Given the description of an element on the screen output the (x, y) to click on. 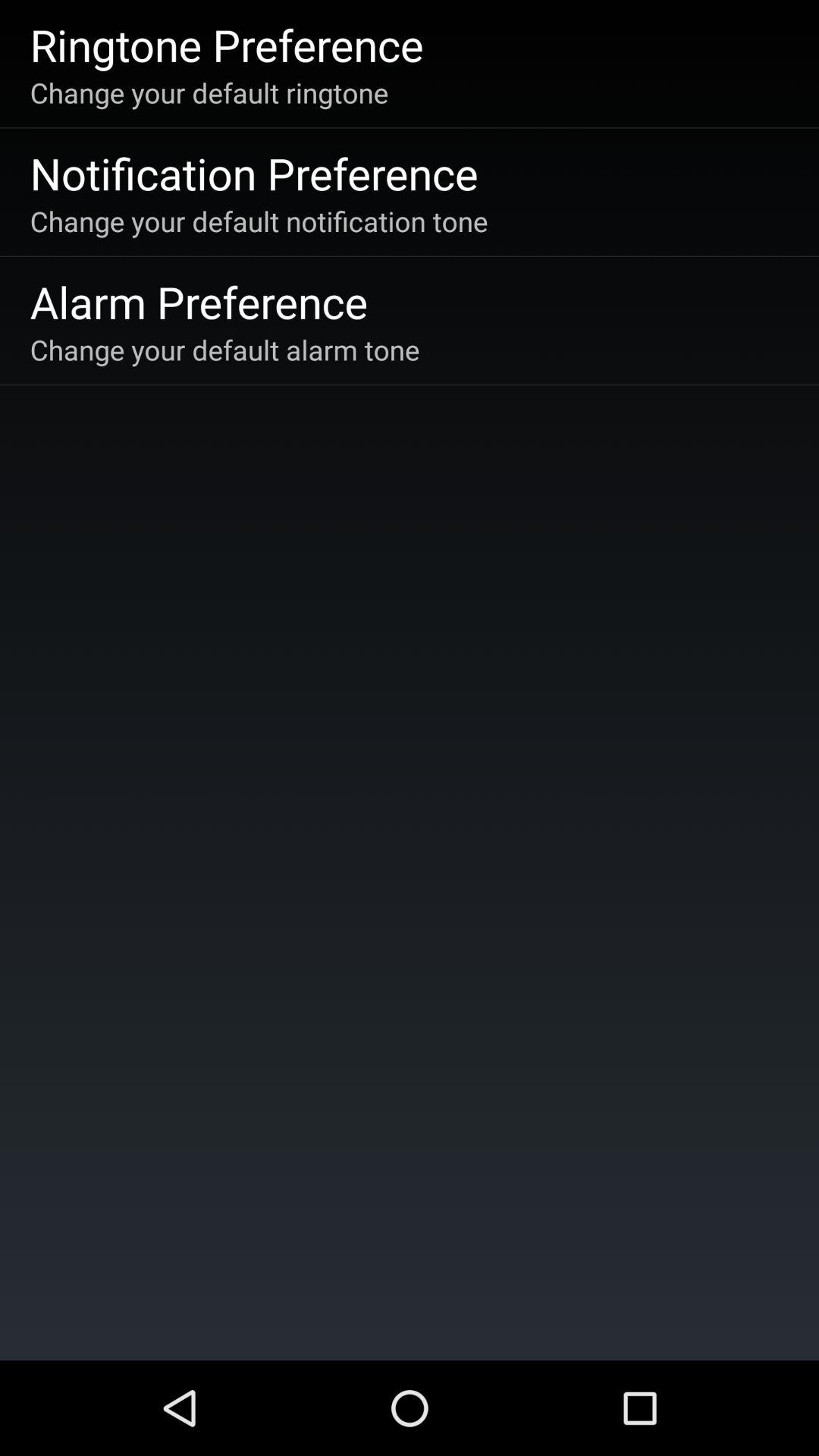
select app below change your default app (254, 172)
